Given the description of an element on the screen output the (x, y) to click on. 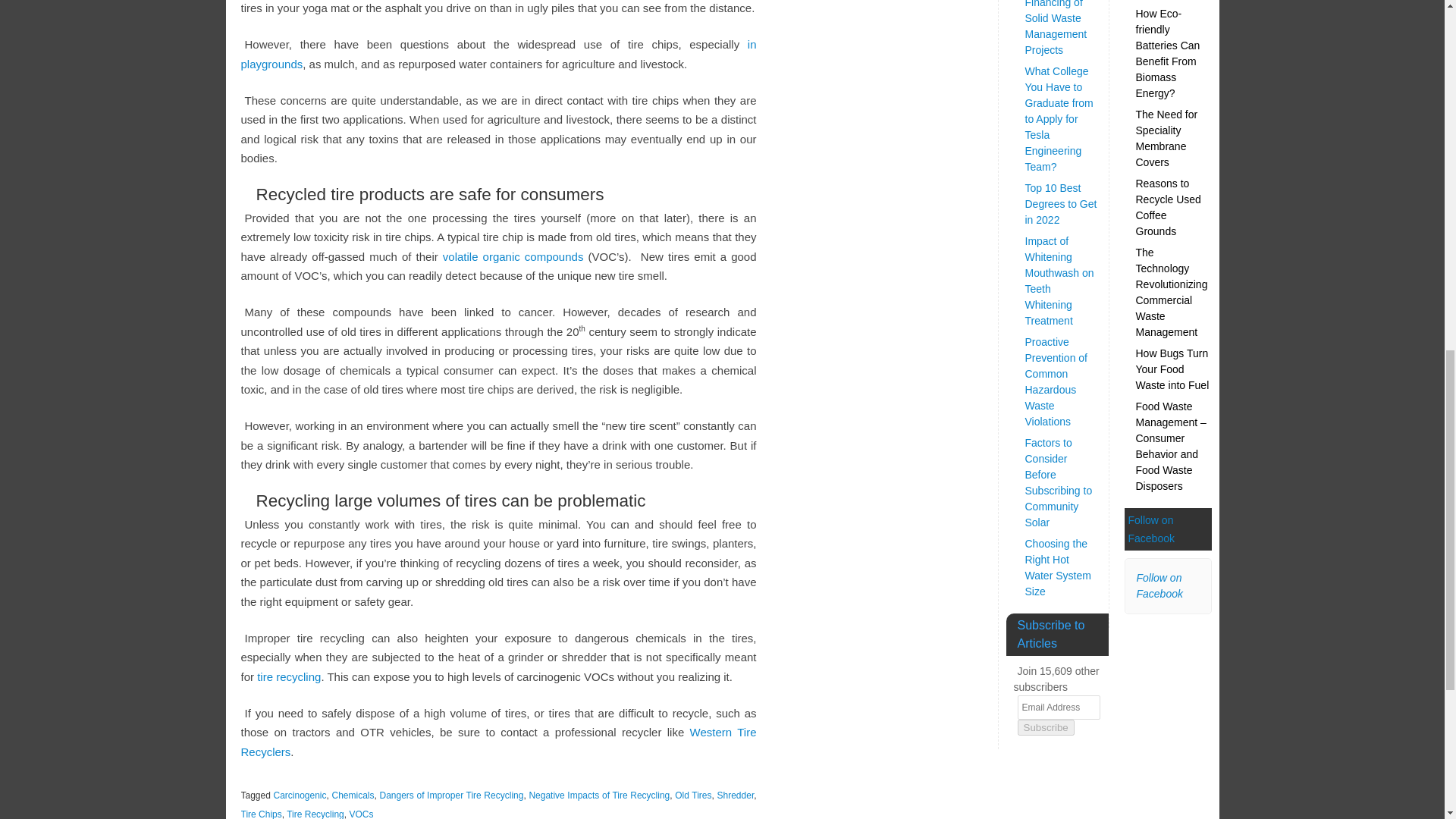
Chemicals (352, 795)
Shredder (735, 795)
Negative Impacts of Tire Recycling (598, 795)
Tire Chips (261, 814)
tire recycling (288, 676)
Carcinogenic (299, 795)
Western Tire Recyclers (499, 741)
Tire Recycling (314, 814)
VOCs (360, 814)
volatile organic compounds (512, 256)
in playgrounds (499, 53)
Dangers of Improper Tire Recycling (450, 795)
Old Tires (693, 795)
